Given the description of an element on the screen output the (x, y) to click on. 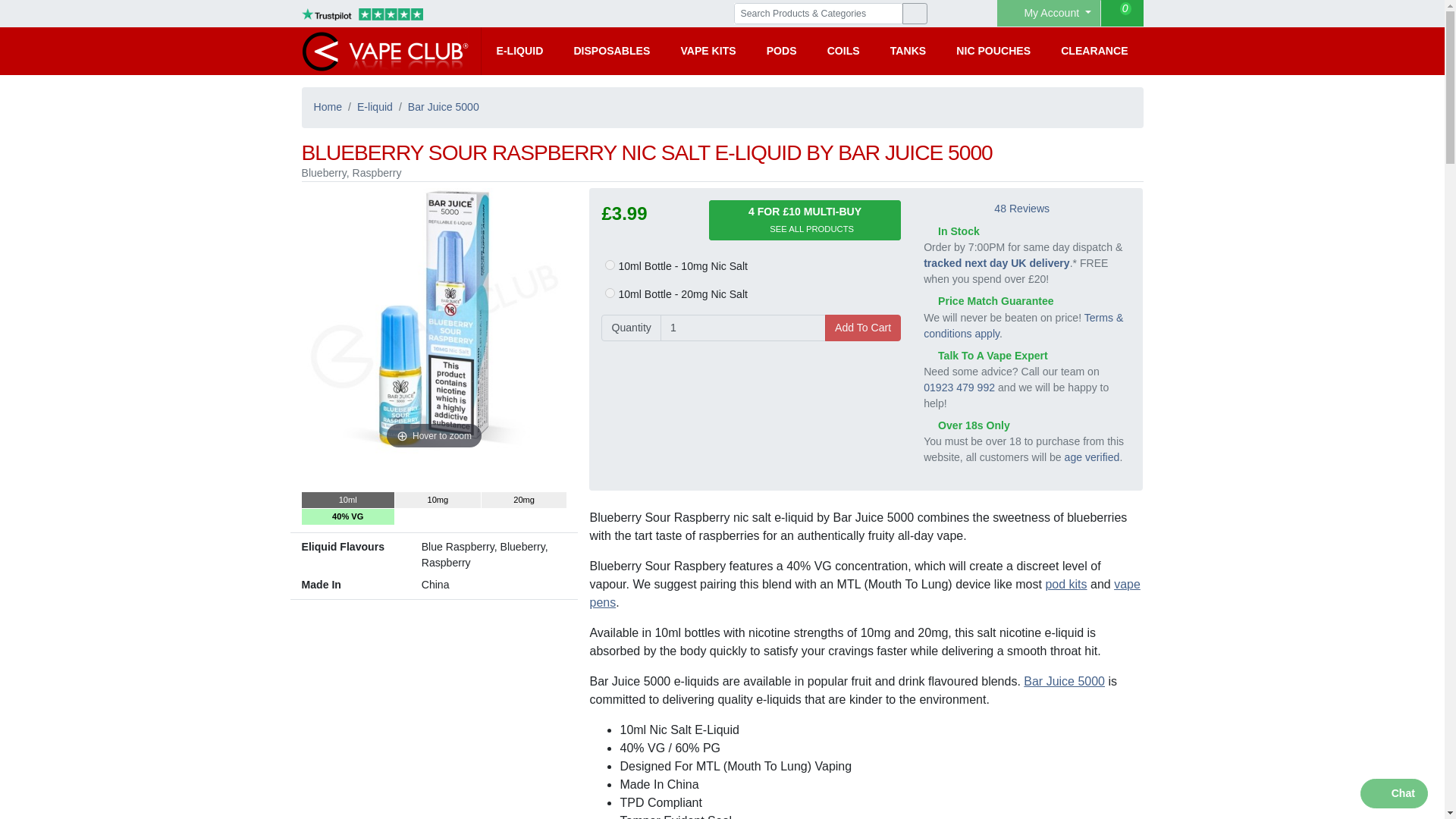
10ml Bottle Size (347, 499)
1 (743, 327)
10mg Nicotine In Stock (437, 499)
44080 (609, 265)
Shopping Cart (1121, 13)
44081 (609, 293)
My Account (1048, 13)
20mg Nicotine In Stock (524, 499)
Search (914, 13)
Vape Club Logo (384, 51)
0 (1121, 13)
E-LIQUID (518, 51)
